Given the description of an element on the screen output the (x, y) to click on. 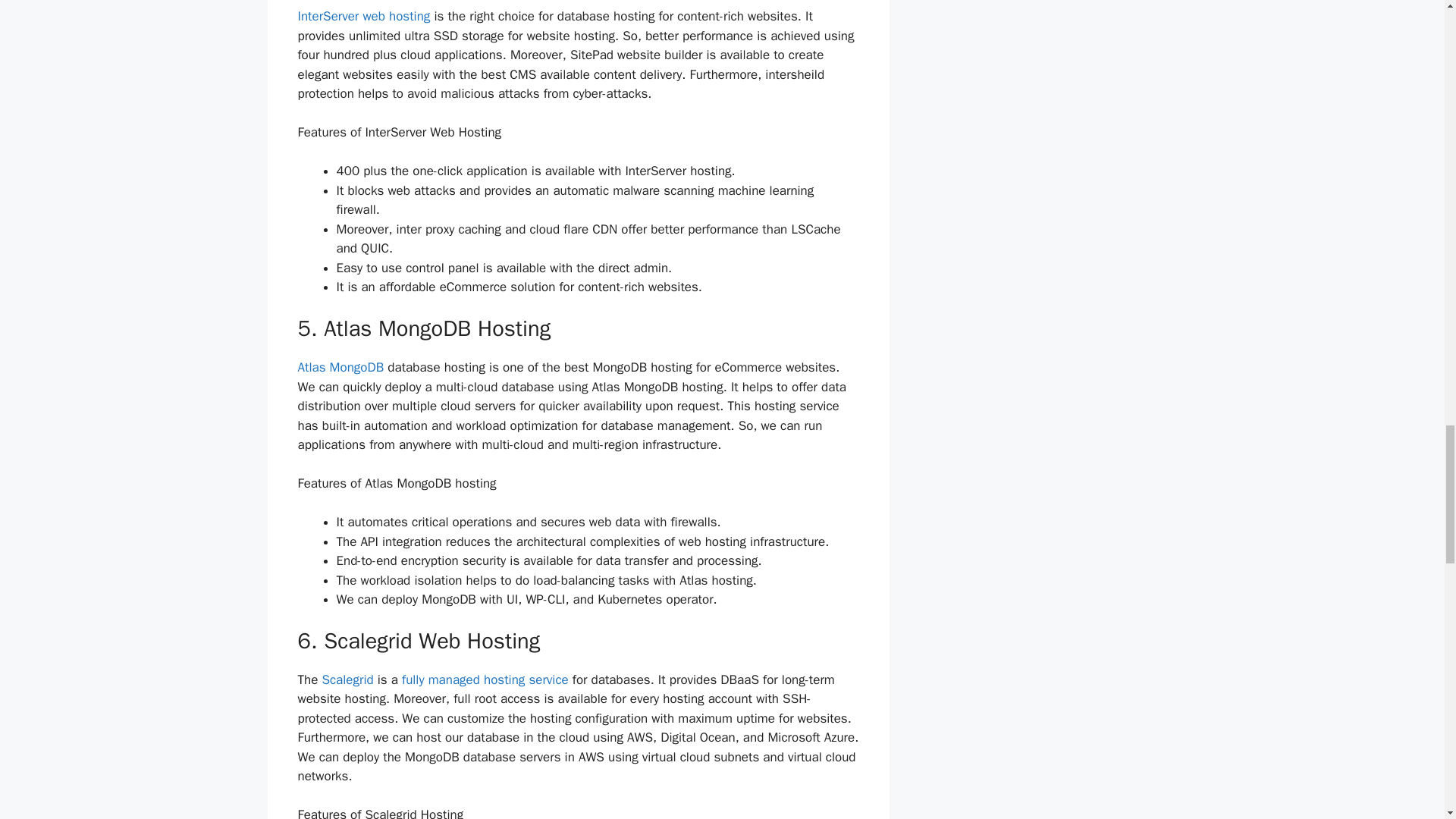
InterServer web hosting (363, 16)
fully managed hosting service (485, 679)
Atlas MongoDB (340, 367)
Scalegrid (346, 679)
